Given the description of an element on the screen output the (x, y) to click on. 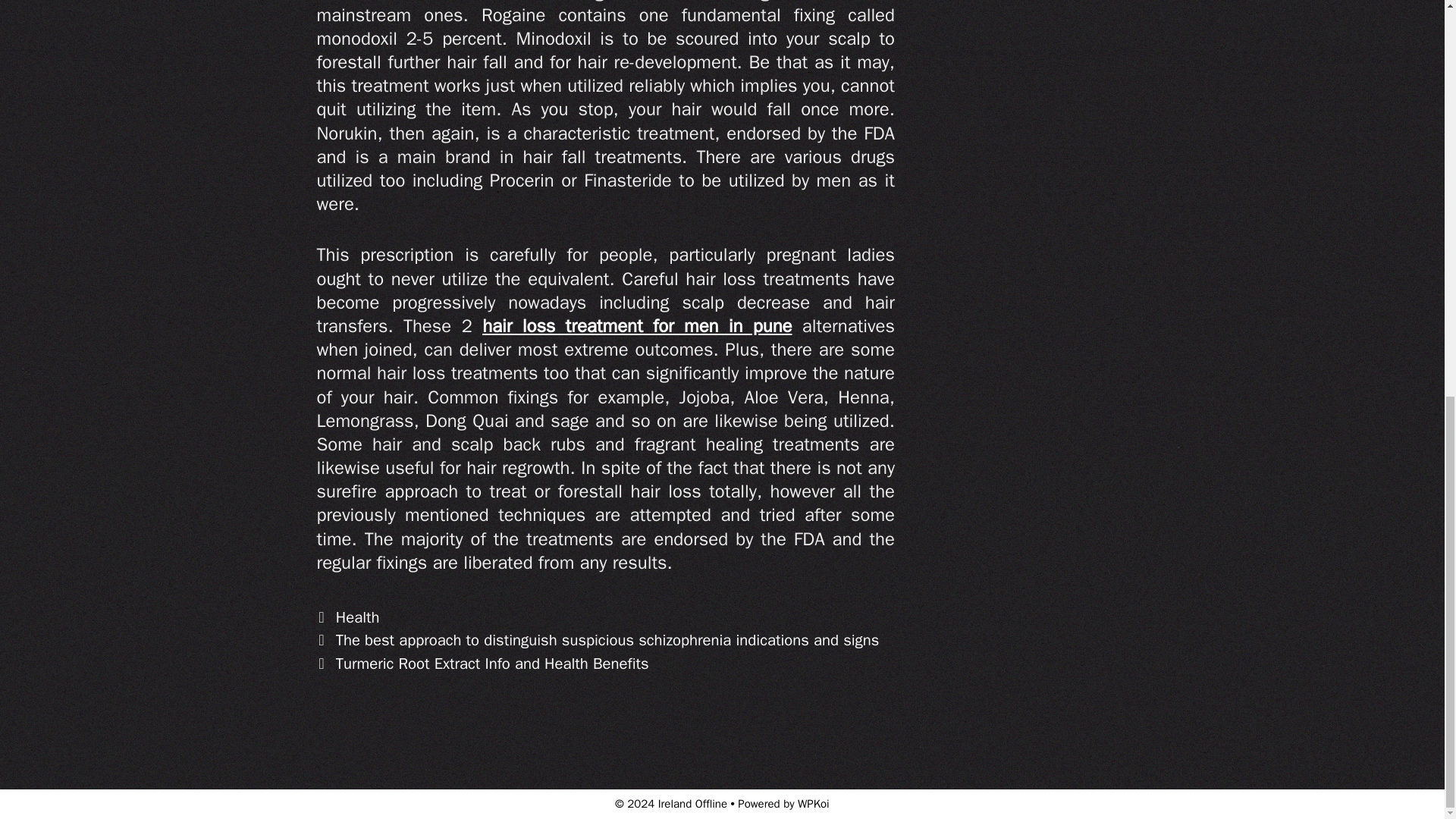
Next (483, 663)
Previous (598, 639)
WPKoi (813, 803)
hair loss treatment for men in pune (636, 325)
Turmeric Root Extract Info and Health Benefits (492, 663)
Health (358, 617)
